Given the description of an element on the screen output the (x, y) to click on. 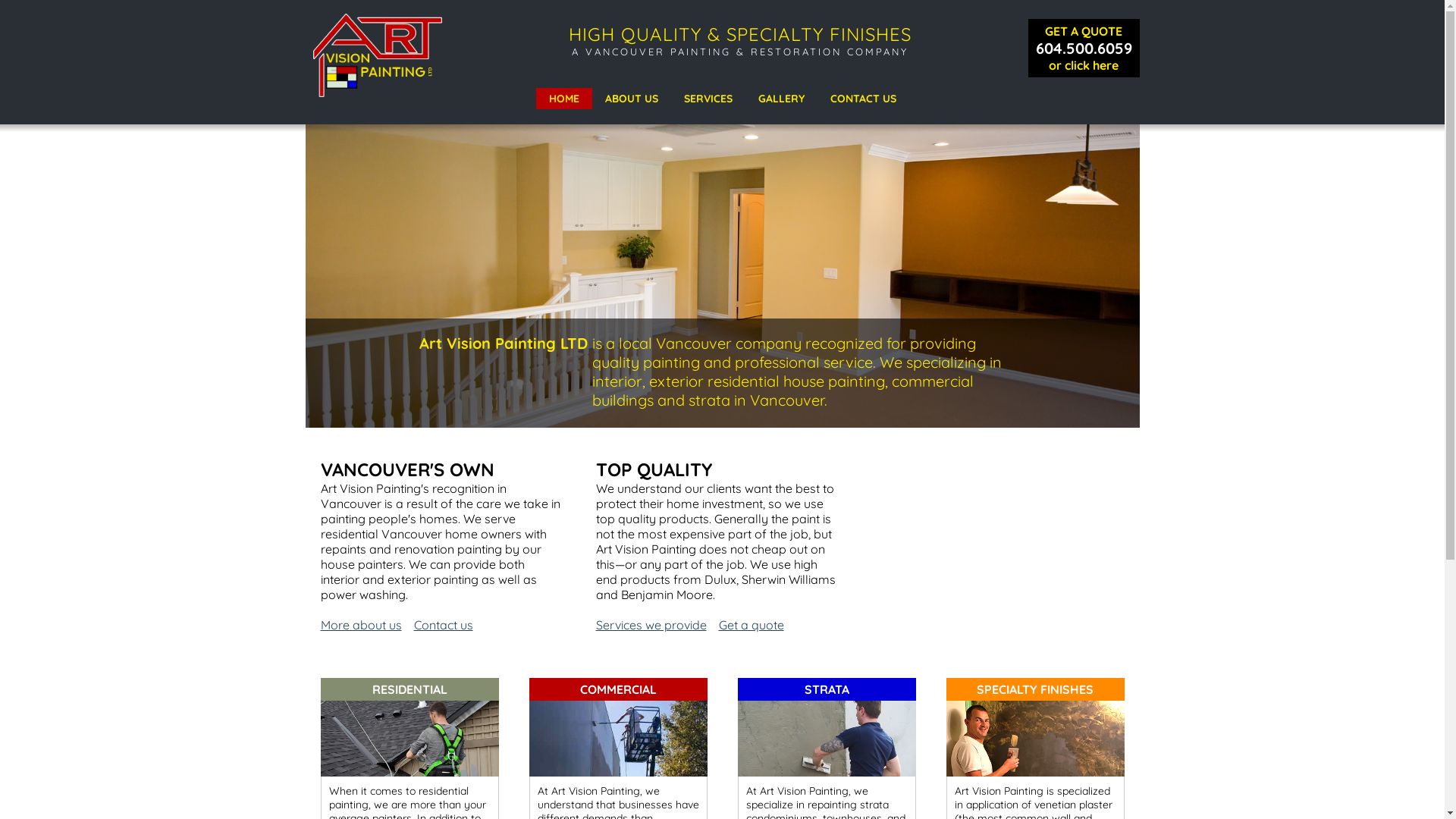
GET A QUOTE
604.500.6059
or click here Element type: text (1083, 47)
Get a quote Element type: text (751, 624)
HOME Element type: text (563, 98)
RESIDENTIAL Element type: text (409, 688)
STRATA Element type: text (826, 688)
GALLERY Element type: text (780, 98)
Contact us Element type: text (443, 624)
CONTACT US Element type: text (863, 98)
SPECIALTY FINISHES Element type: text (1035, 688)
COMMERCIAL Element type: text (618, 688)
SERVICES Element type: text (707, 98)
ABOUT US Element type: text (630, 98)
More about us Element type: text (360, 624)
Services we provide Element type: text (651, 624)
